Given the description of an element on the screen output the (x, y) to click on. 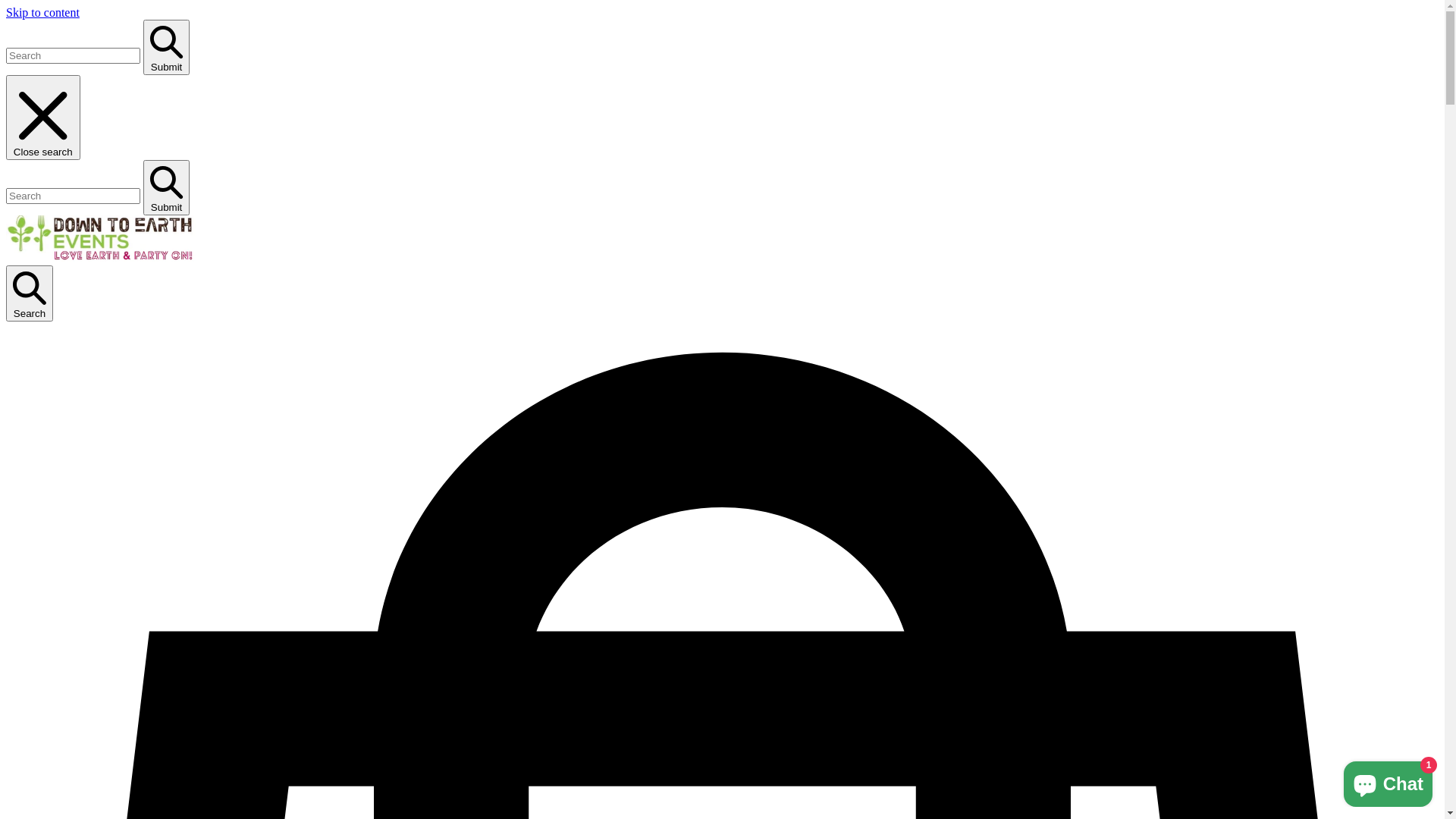
Submit Element type: text (166, 187)
Search Element type: text (29, 293)
Submit Element type: text (166, 47)
Skip to content Element type: text (42, 12)
Shopify online store chat Element type: hover (1388, 780)
Close search Element type: text (43, 117)
